Given the description of an element on the screen output the (x, y) to click on. 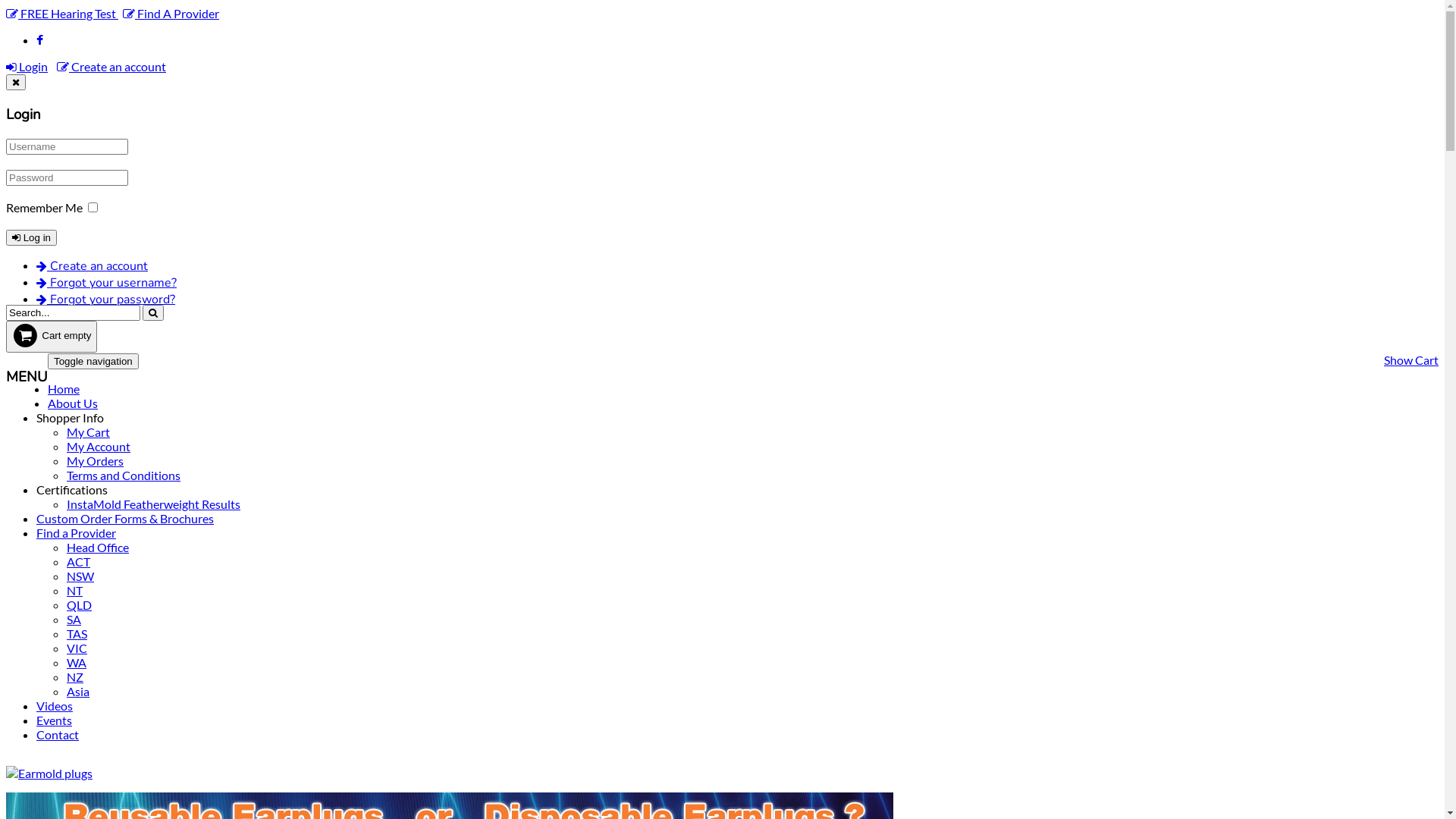
InstaMold Featherweight Results Element type: text (153, 503)
Facebook Element type: hover (39, 39)
NSW Element type: text (80, 575)
Create an account Element type: text (111, 66)
Log in Element type: text (31, 237)
Forgot your password? Element type: text (105, 299)
About Us Element type: text (72, 402)
Forgot your username? Element type: text (106, 282)
Create an account Element type: text (91, 265)
Show Cart Element type: text (1410, 359)
Videos Element type: text (54, 705)
FREE Hearing Test Element type: text (62, 13)
Login Element type: text (26, 66)
Custom Order Forms & Brochures Element type: text (124, 518)
Toggle navigation Element type: text (92, 361)
ACT Element type: text (78, 561)
Find a Provider Element type: text (76, 532)
Head Office Element type: text (97, 546)
TAS Element type: text (76, 633)
My Cart Element type: text (87, 431)
QLD Element type: text (78, 604)
Events Element type: text (54, 719)
NT Element type: text (74, 590)
My Orders Element type: text (94, 460)
My Account Element type: text (98, 446)
Asia Element type: text (77, 691)
WA Element type: text (76, 662)
Terms and Conditions Element type: text (123, 474)
Home Element type: text (63, 388)
Cart empty Element type: text (51, 336)
Contact Element type: text (57, 734)
SA Element type: text (73, 618)
Find A Provider Element type: text (170, 13)
VIC Element type: text (76, 647)
NZ Element type: text (74, 676)
